Given the description of an element on the screen output the (x, y) to click on. 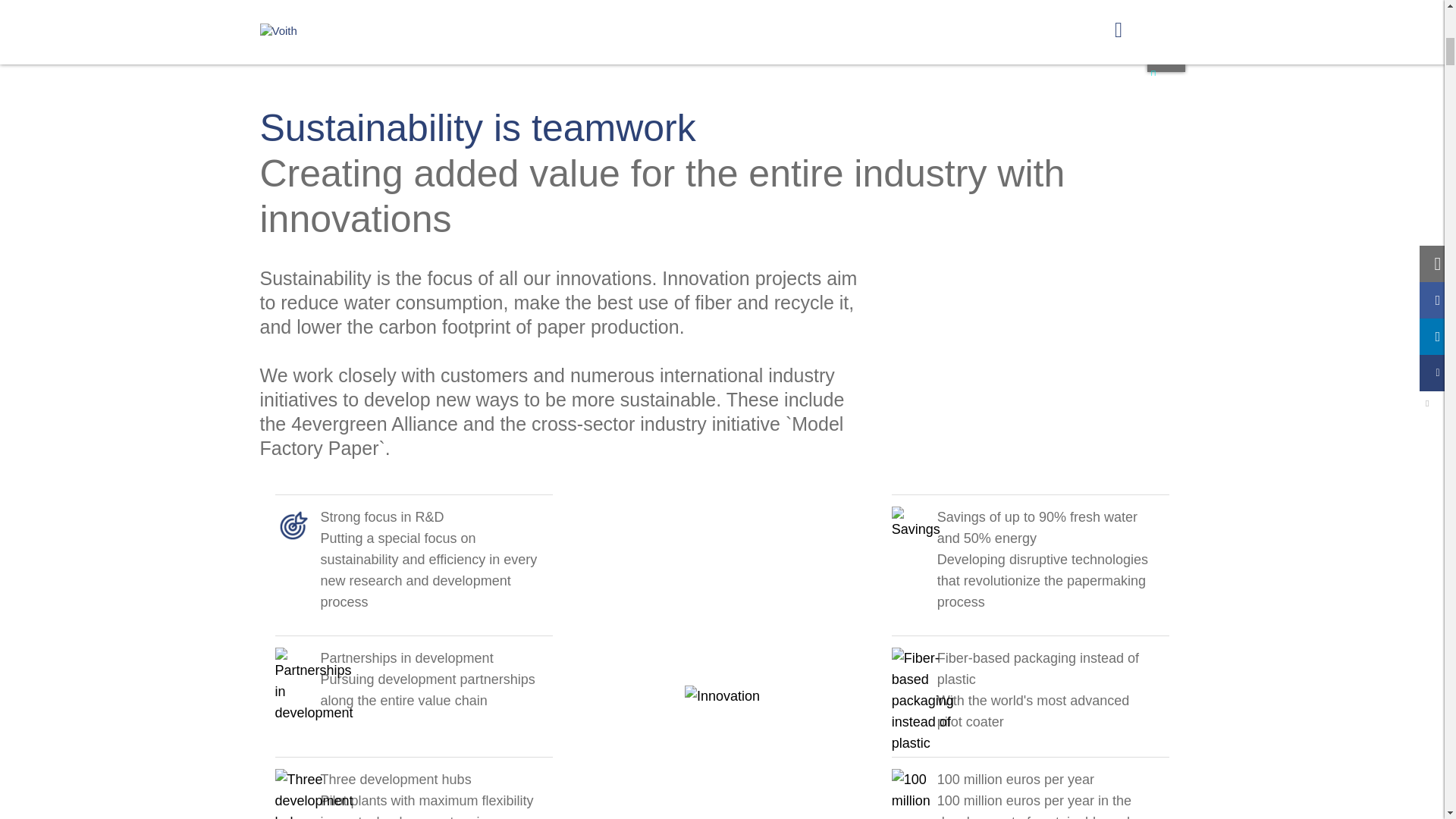
Innovation (503, 34)
Papermaking for Life (397, 34)
Papermaking (292, 34)
